Given the description of an element on the screen output the (x, y) to click on. 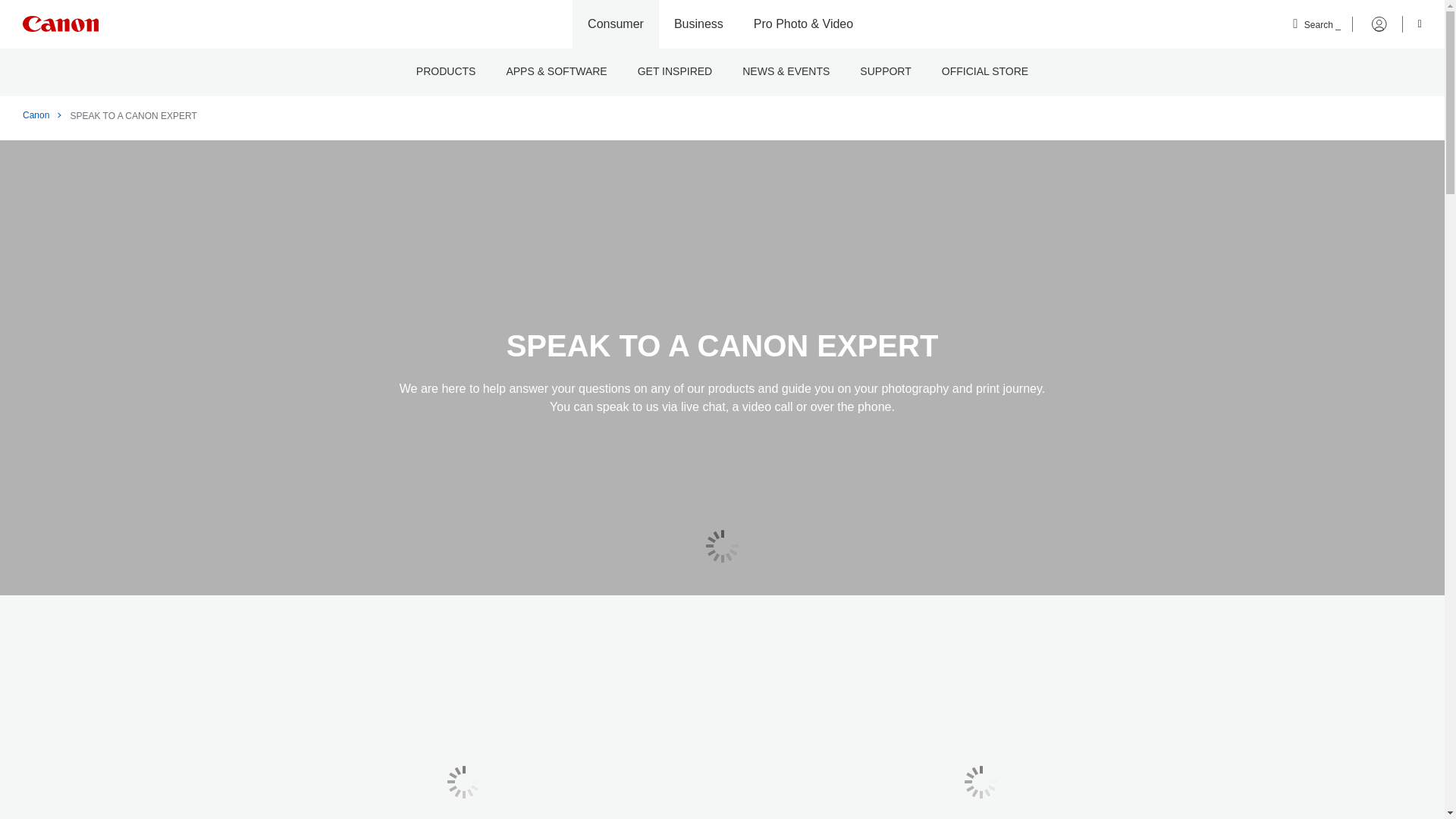
Consumer (615, 24)
PRODUCTS (446, 72)
Canon Logo, back to home page (61, 23)
Business (698, 24)
Canon account (1369, 23)
